Given the description of an element on the screen output the (x, y) to click on. 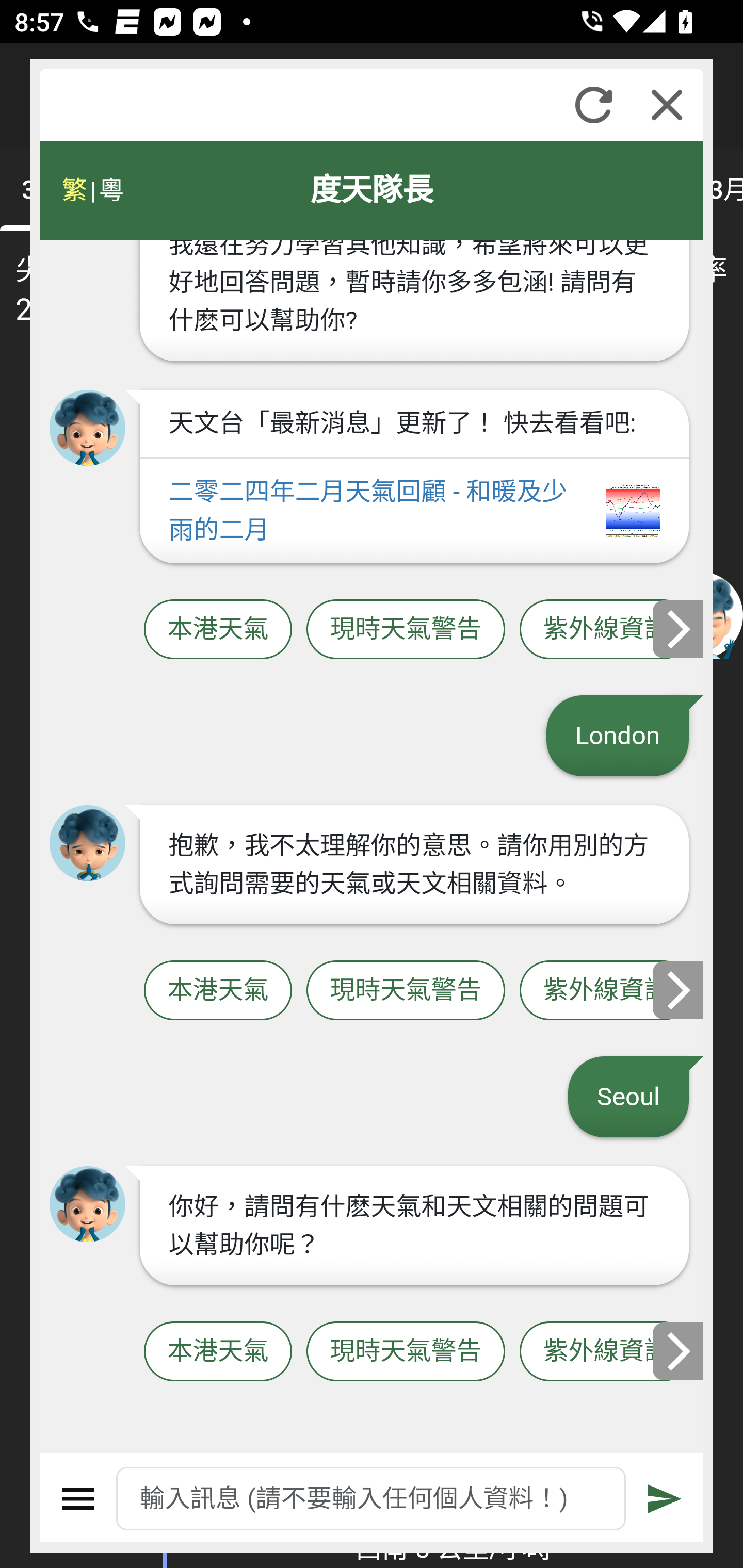
重新整理 (593, 104)
關閉 (666, 104)
繁 (73, 190)
粵 (110, 190)
二零二四年二月天氣回顧 - 和暖及少雨的二月 (413, 510)
本港天氣 (217, 629)
現時天氣警告 (405, 629)
紫外線資訊 (605, 629)
下一張 (678, 628)
本港天氣 (217, 990)
現時天氣警告 (405, 990)
紫外線資訊 (605, 990)
下一張 (678, 989)
本港天氣 (217, 1351)
現時天氣警告 (405, 1351)
紫外線資訊 (605, 1351)
下一張 (678, 1351)
選單 (78, 1498)
遞交 (665, 1498)
